Given the description of an element on the screen output the (x, y) to click on. 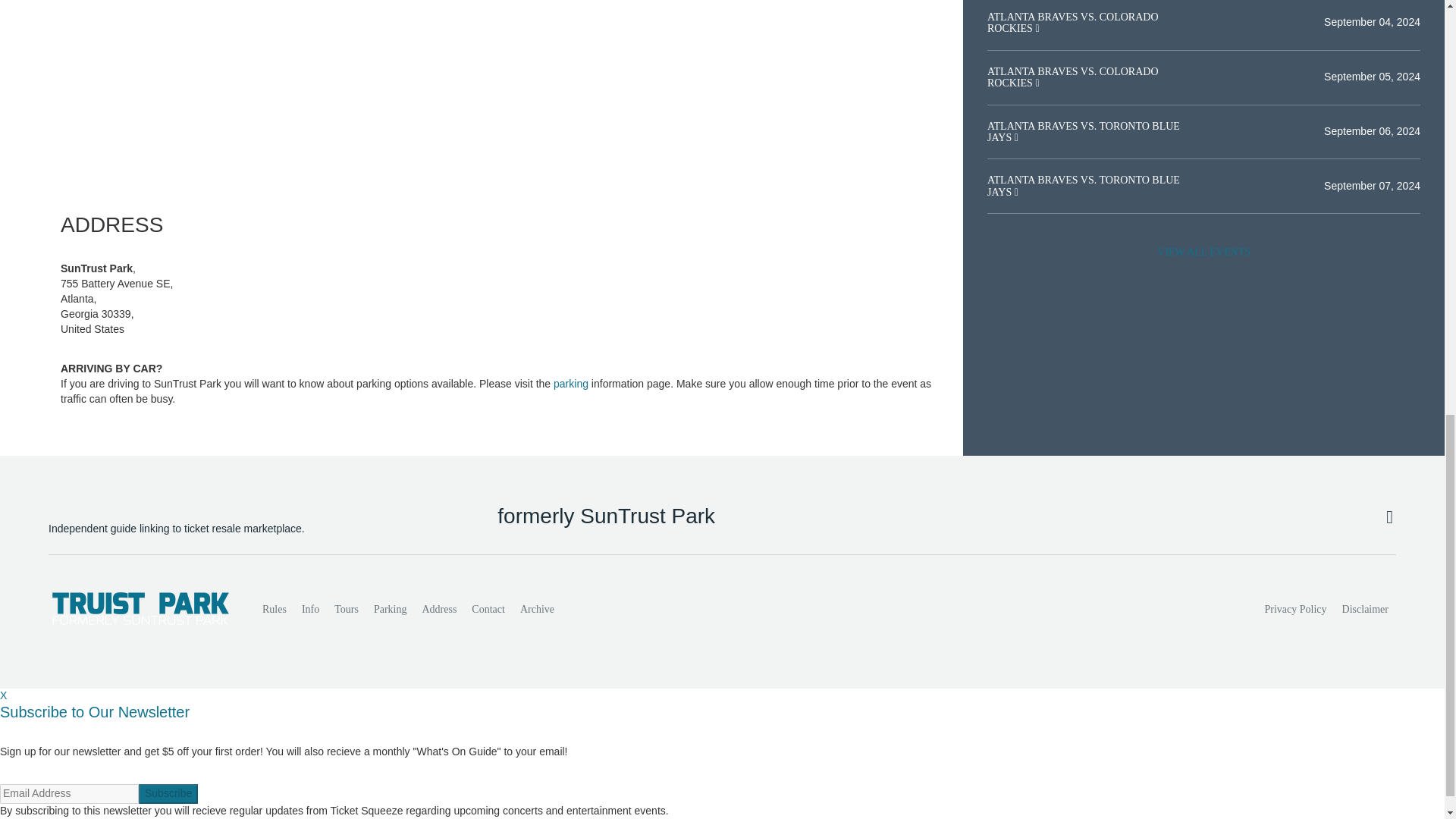
Address (438, 609)
Tours (346, 609)
Info (310, 609)
Rules (274, 609)
parking (570, 383)
Disclaimer (1365, 609)
Archive (537, 609)
Privacy Policy (1296, 609)
VIEW ALL EVENTS (1203, 252)
Contact (488, 609)
